Given the description of an element on the screen output the (x, y) to click on. 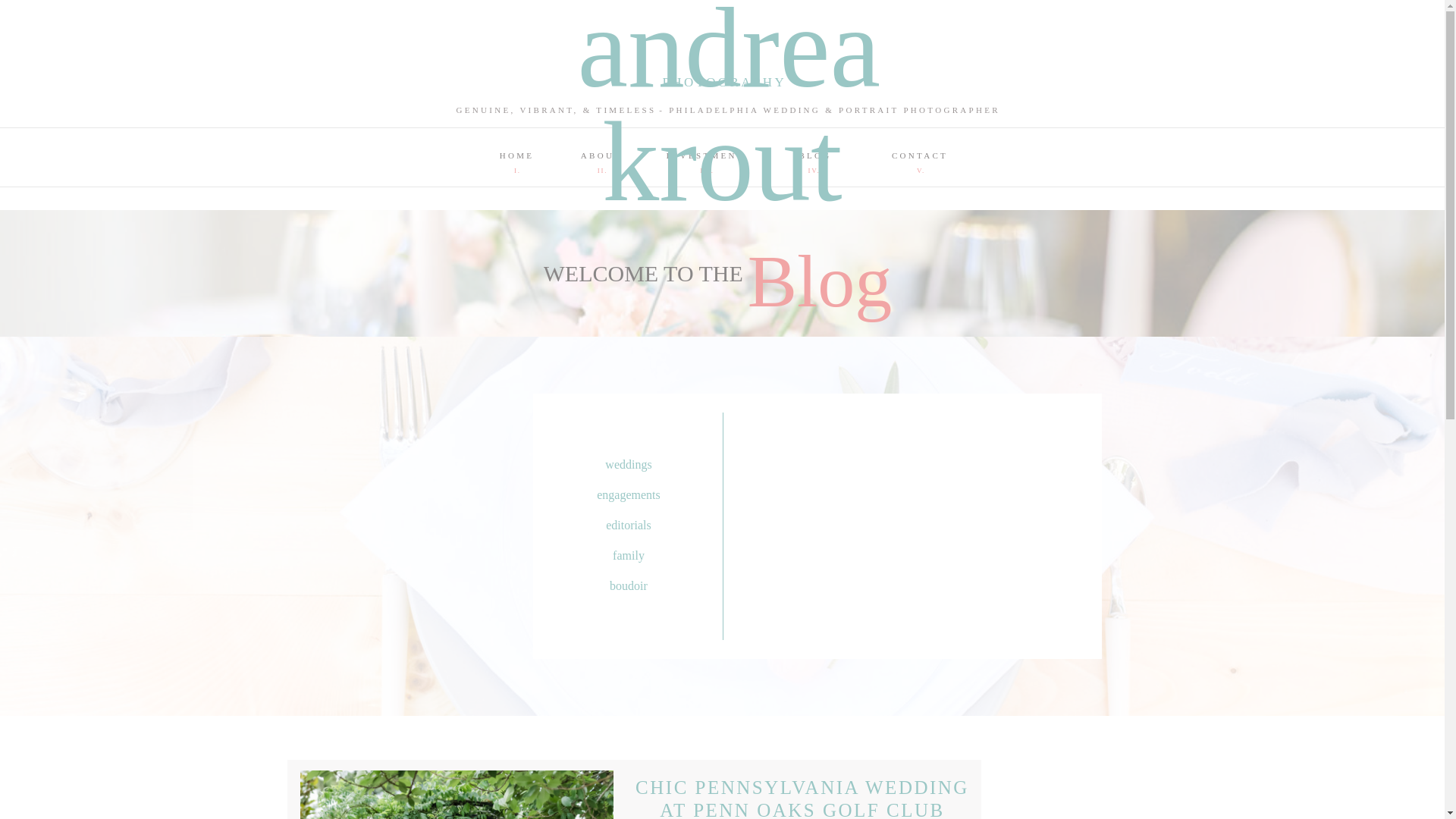
engagements (627, 495)
andrea krout (722, 25)
CONTACT (919, 153)
family (627, 556)
boudoir (627, 586)
weddings (627, 465)
PHOTOGRAPHY (722, 82)
INVESTMENT (704, 153)
BLOG (815, 153)
HOME (515, 153)
